Given the description of an element on the screen output the (x, y) to click on. 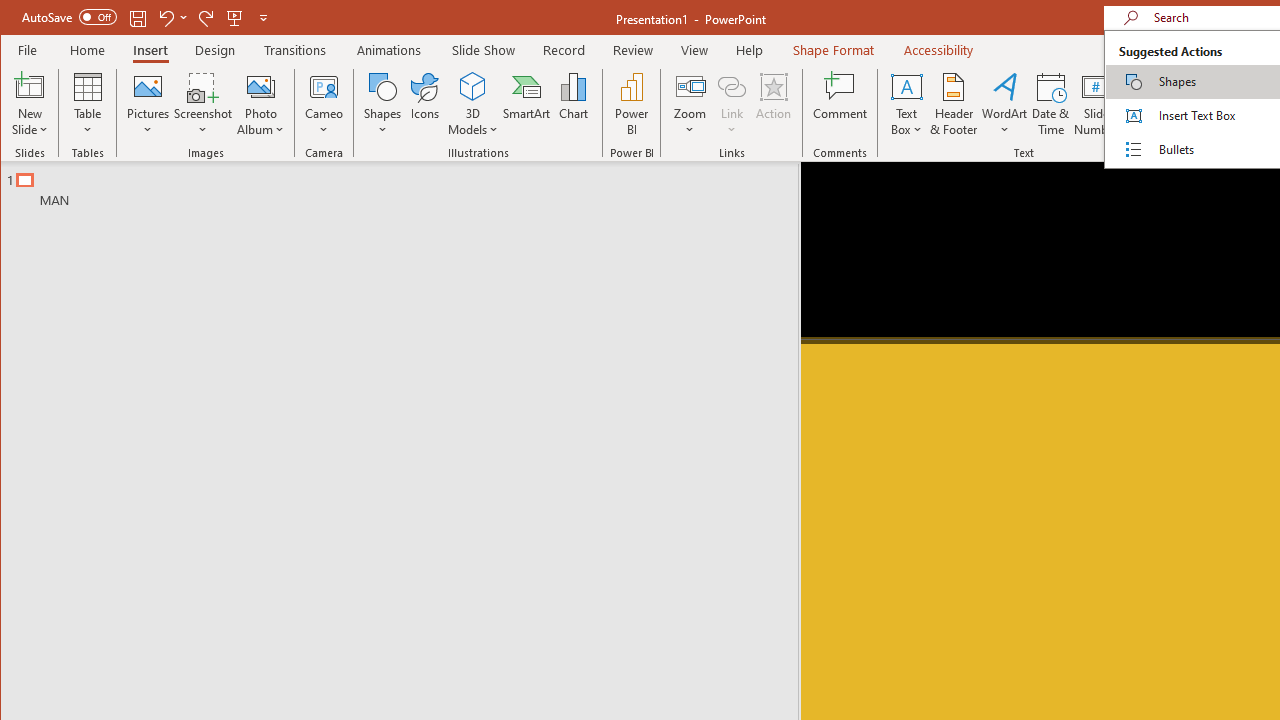
3D Models (472, 86)
Pictures (148, 104)
Photo Album... (260, 104)
3D Models (472, 104)
Outline (408, 185)
Object... (1142, 104)
